Given the description of an element on the screen output the (x, y) to click on. 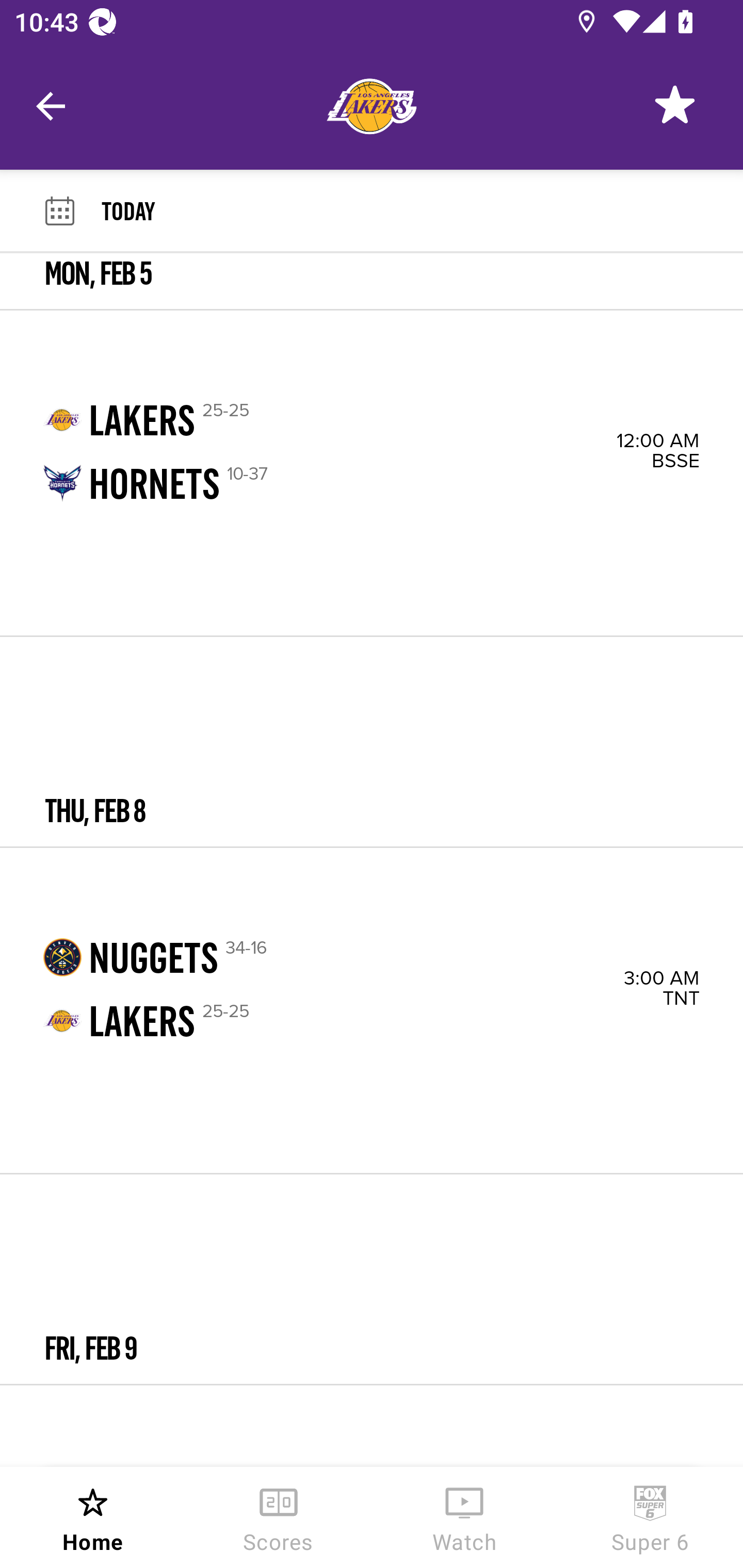
Navigate up (50, 106)
TODAY (422, 210)
MON, FEB 5 (371, 281)
LAKERS 25-25 12:00 AM HORNETS 10-37 BSSE (371, 472)
THU, FEB 8 (371, 741)
NUGGETS 34-16 3:00 AM LAKERS 25-25 TNT (371, 1010)
FRI, FEB 9 (371, 1279)
Scores (278, 1517)
Watch (464, 1517)
Super 6 (650, 1517)
